Given the description of an element on the screen output the (x, y) to click on. 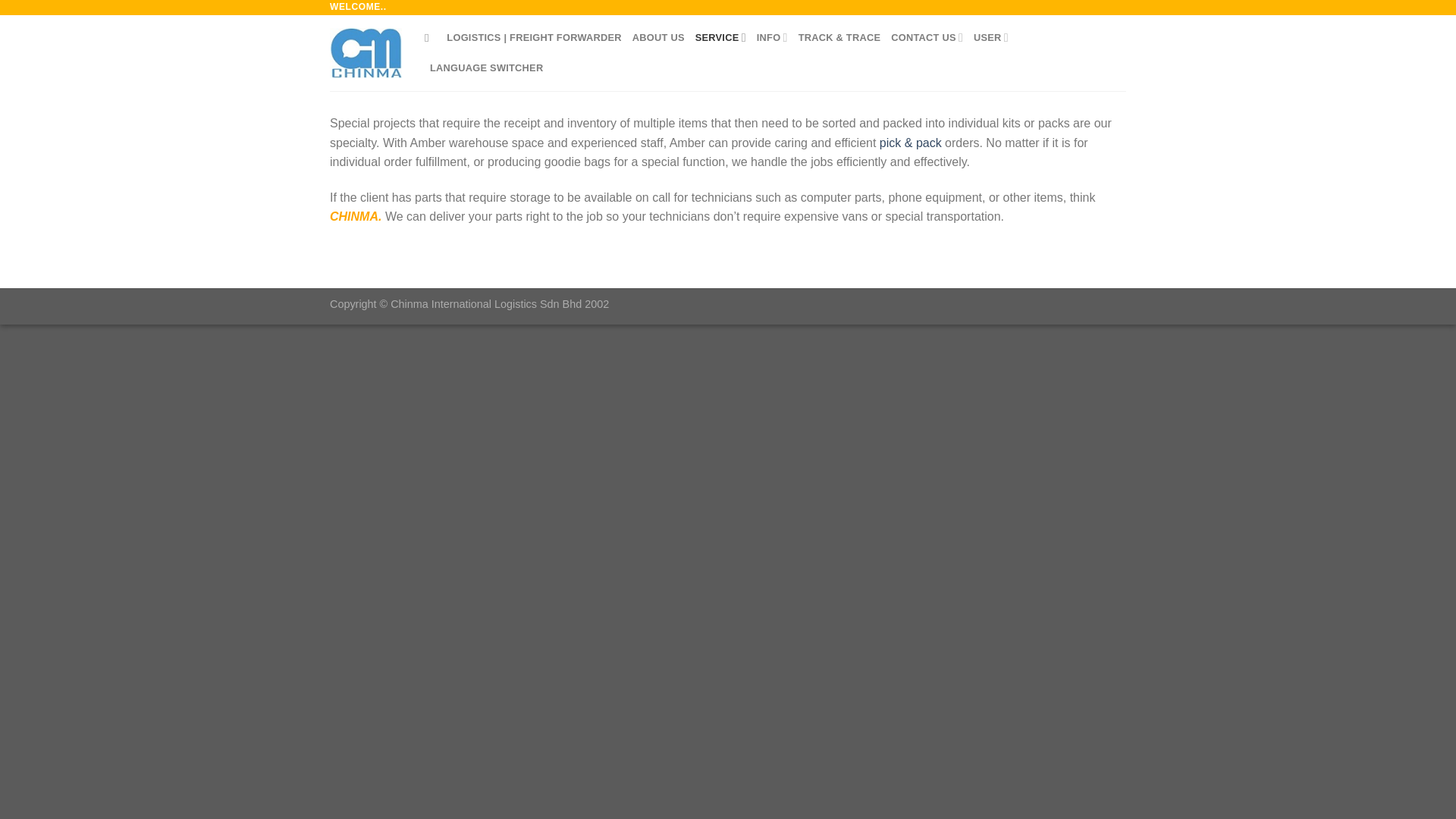
INFO (772, 37)
ABOUT US (657, 37)
SERVICE (720, 37)
Chinma Logistics (365, 52)
USER (991, 37)
LANGUAGE SWITCHER (486, 68)
CONTACT US (926, 37)
